Given the description of an element on the screen output the (x, y) to click on. 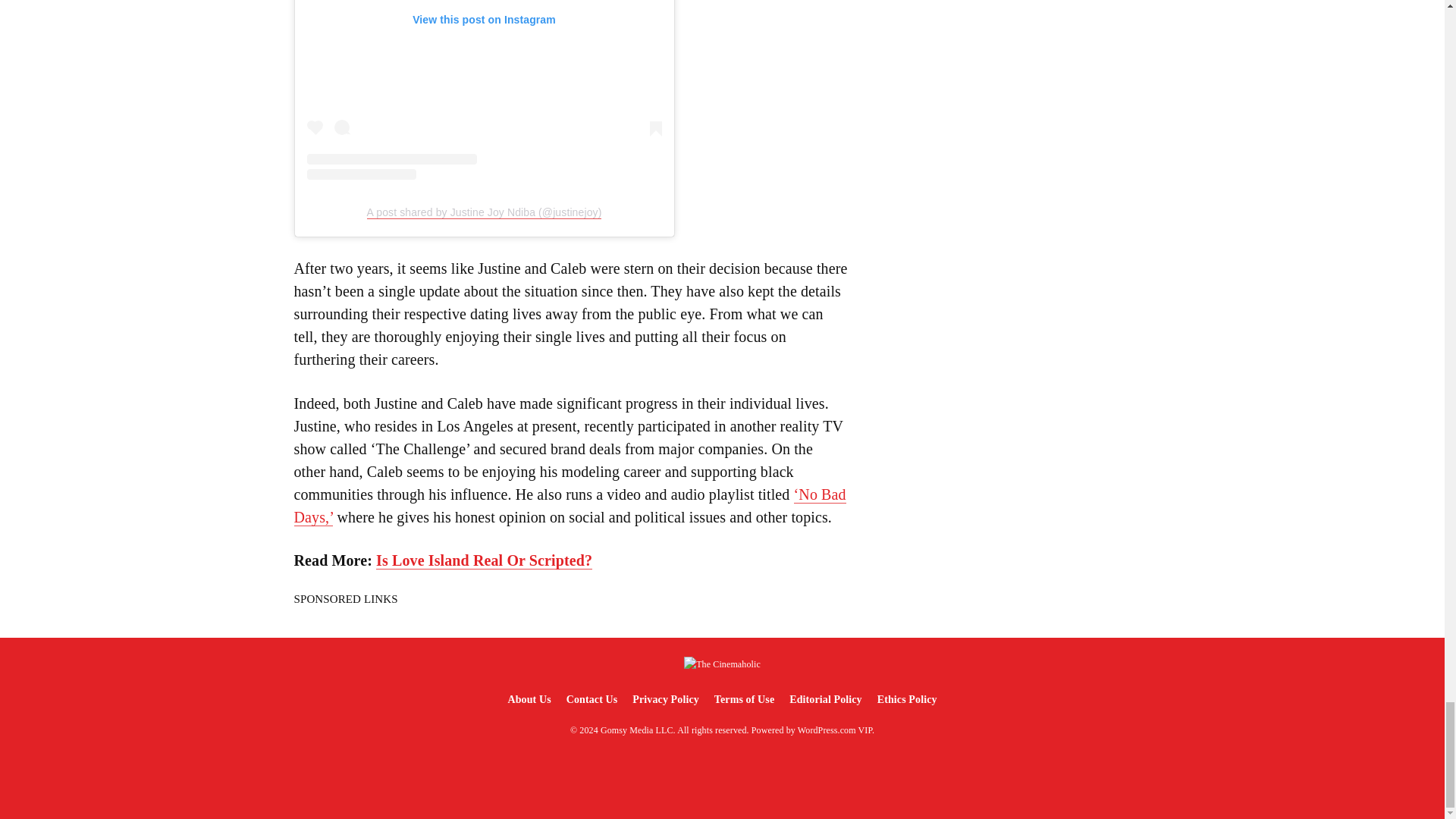
WordPress.com VIP (834, 729)
Is Love Island Real Or Scripted? (483, 560)
About Us (528, 699)
View this post on Instagram (483, 89)
Contact Us (592, 699)
Terms of Use (743, 699)
Editorial Policy (825, 699)
Privacy Policy (665, 699)
Ethics Policy (906, 699)
